Given the description of an element on the screen output the (x, y) to click on. 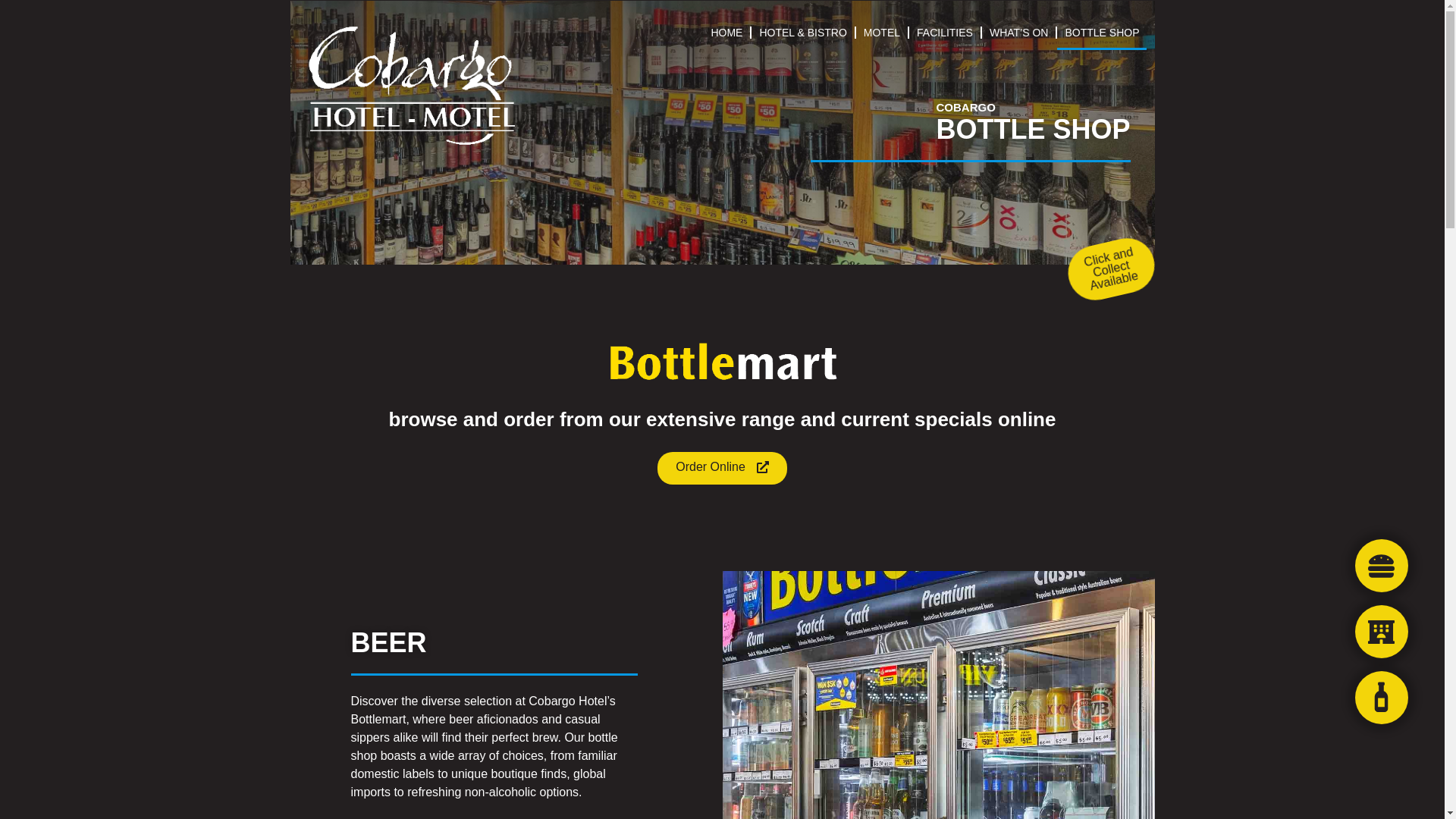
Order Bistro Food Online (1381, 565)
HOME (726, 32)
Book Accommodation (1381, 634)
Bottlemart Online (1381, 699)
FACILITIES (943, 32)
BOTTLE SHOP (1102, 32)
Order Food (1381, 567)
Cobargo Hotel and Motel Home (410, 85)
Book Accommodation Online (1381, 631)
MOTEL (881, 32)
Bottlemart Online (1381, 696)
Order Online (722, 468)
Click and Collect Available (1106, 259)
